Given the description of an element on the screen output the (x, y) to click on. 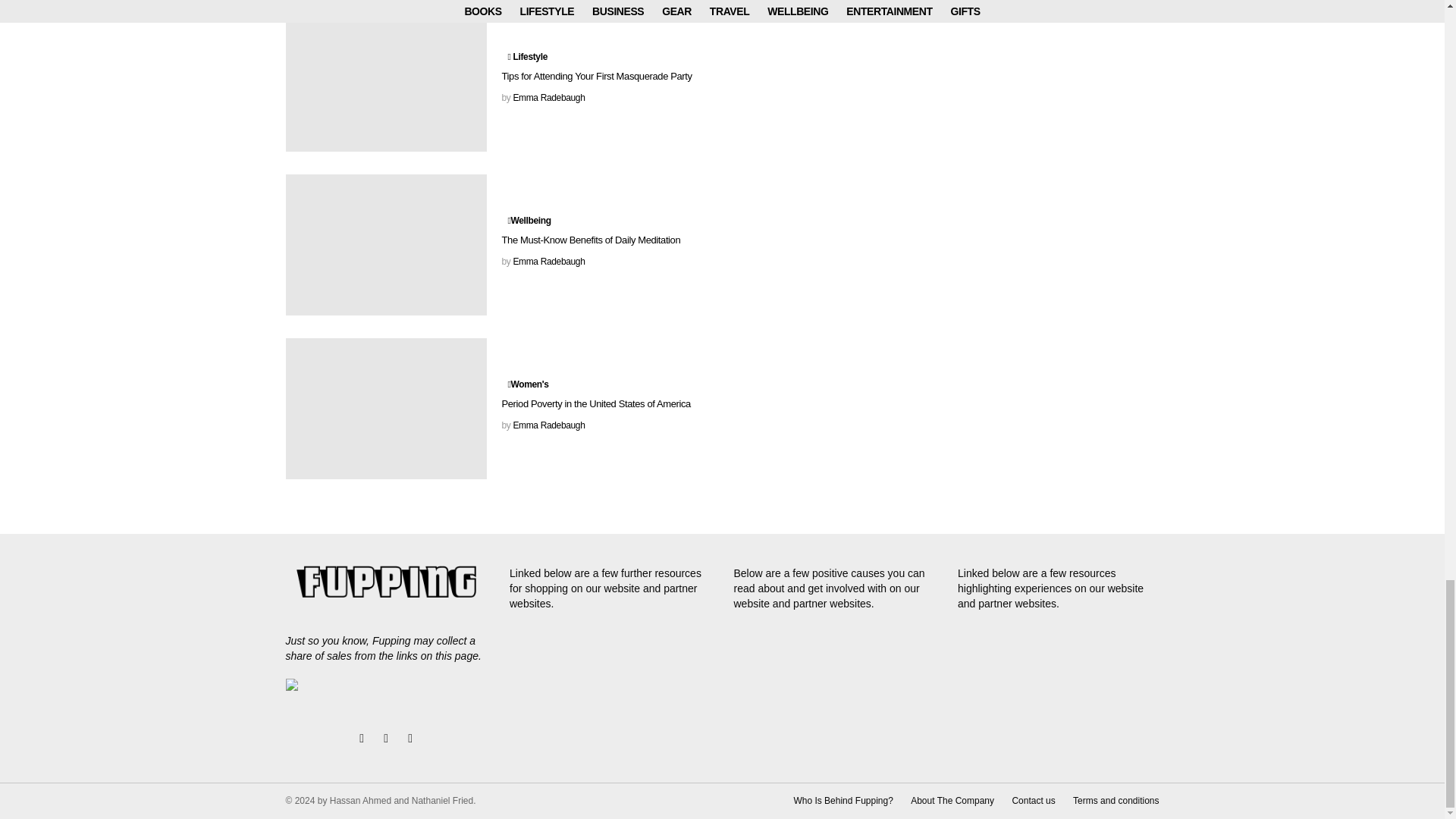
Tips for Attending Your First Masquerade Party (385, 80)
The Must-Know Benefits of Daily Meditation (385, 244)
Posts by Emma Radebaugh (548, 261)
Posts by Emma Radebaugh (548, 97)
Period Poverty in the United States of America (385, 408)
Posts by Emma Radebaugh (548, 425)
